Given the description of an element on the screen output the (x, y) to click on. 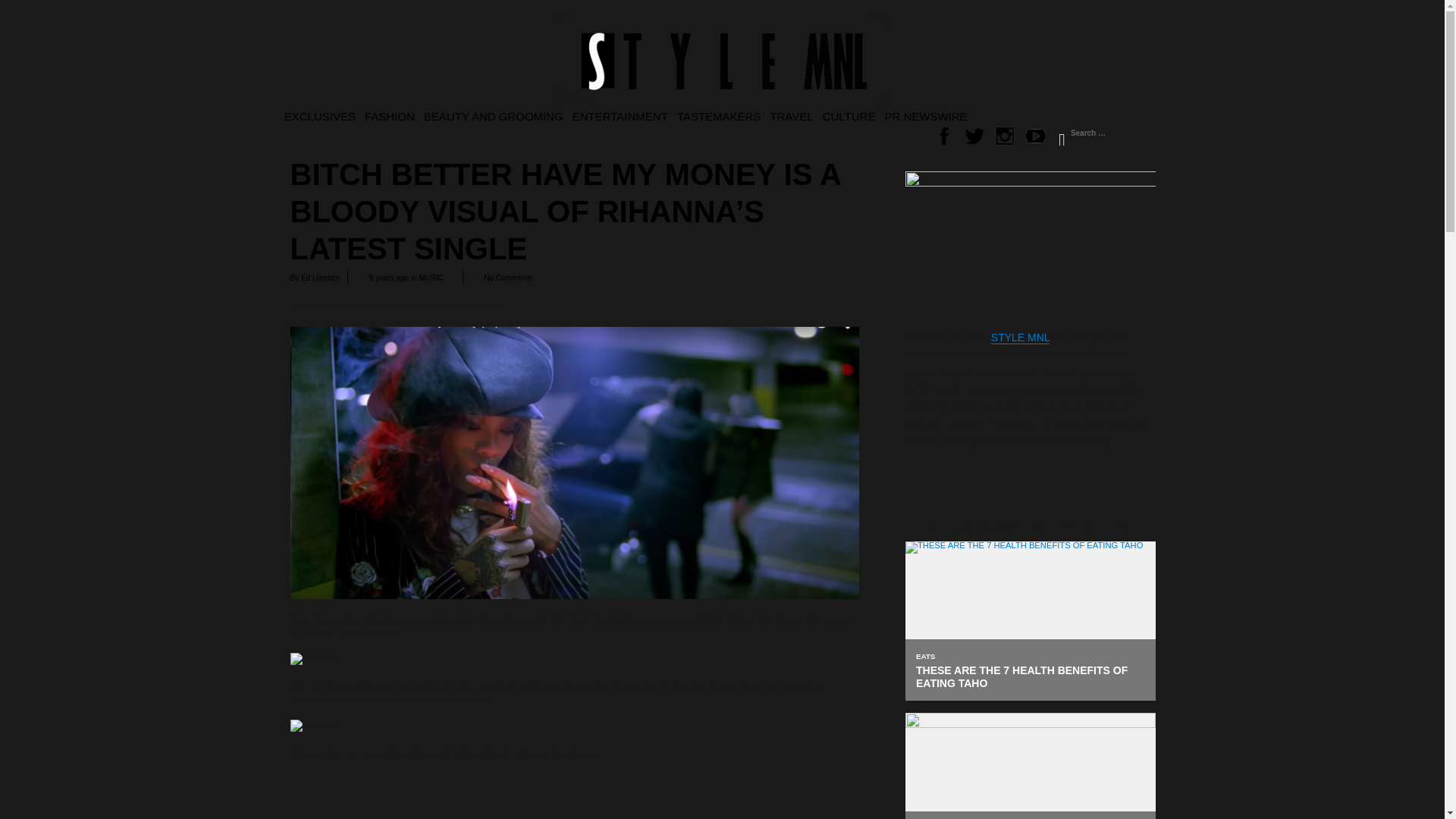
FASHION (391, 115)
BEAUTY AND GROOMING (494, 115)
TRAVEL (792, 115)
SEARCH (1061, 135)
PR NEWSWIRE (926, 115)
Ed Lorenzo (320, 277)
No Comments (507, 277)
ENTERTAINMENT (621, 115)
TASTEMAKERS (720, 115)
Search for: (1103, 133)
